Given the description of an element on the screen output the (x, y) to click on. 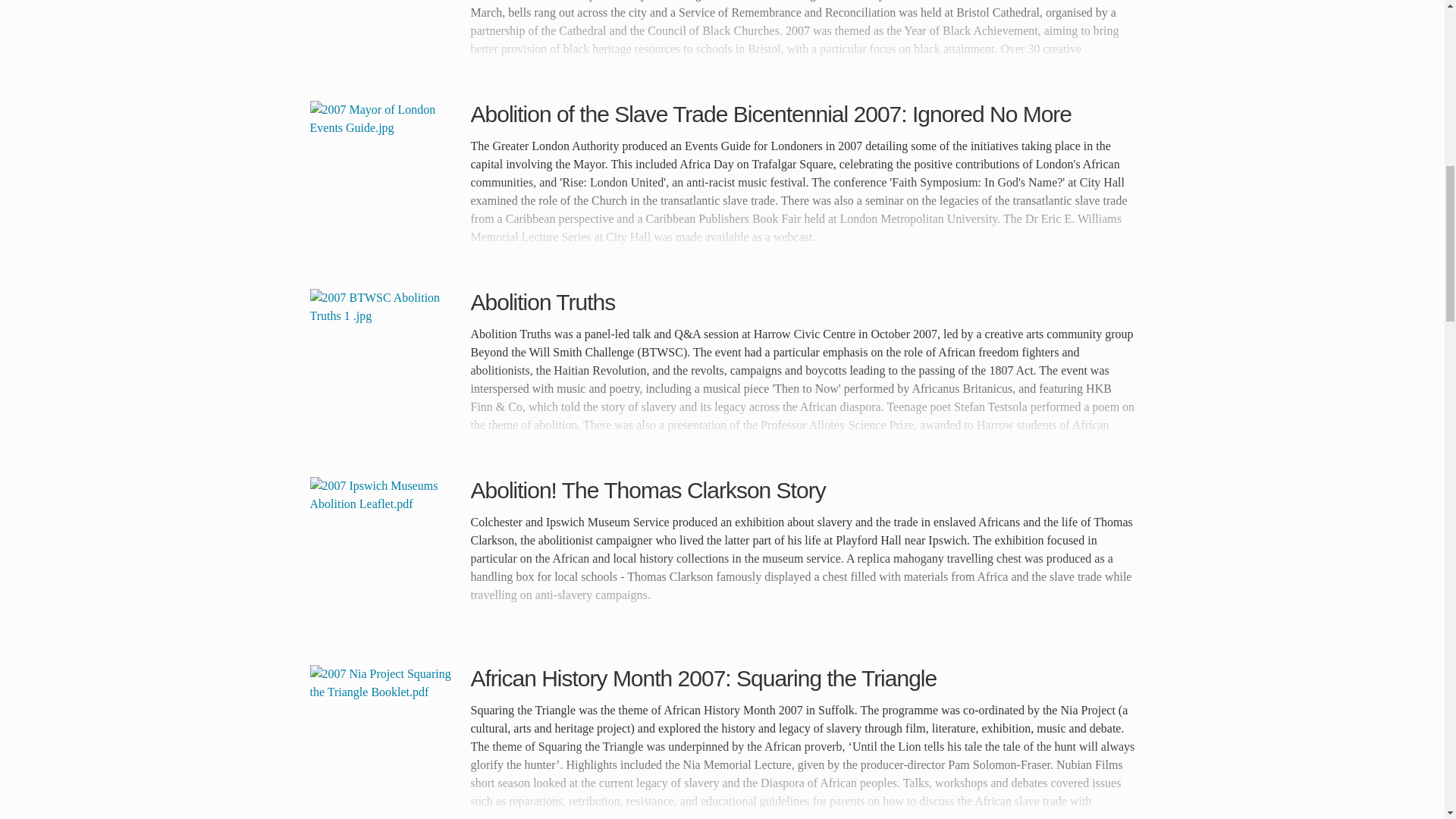
2007 Mayor of London Events Guide.jpg (384, 176)
2007 Ipswich Museums Abolition Leaflet.pdf (384, 552)
2007 BTWSC Abolition Truths 1 .jpg (384, 364)
2007 Nia Project Squaring the Triangle Booklet.pdf (384, 740)
2007 Bristol Abolition 200 Thumb.jpg (384, 32)
